Given the description of an element on the screen output the (x, y) to click on. 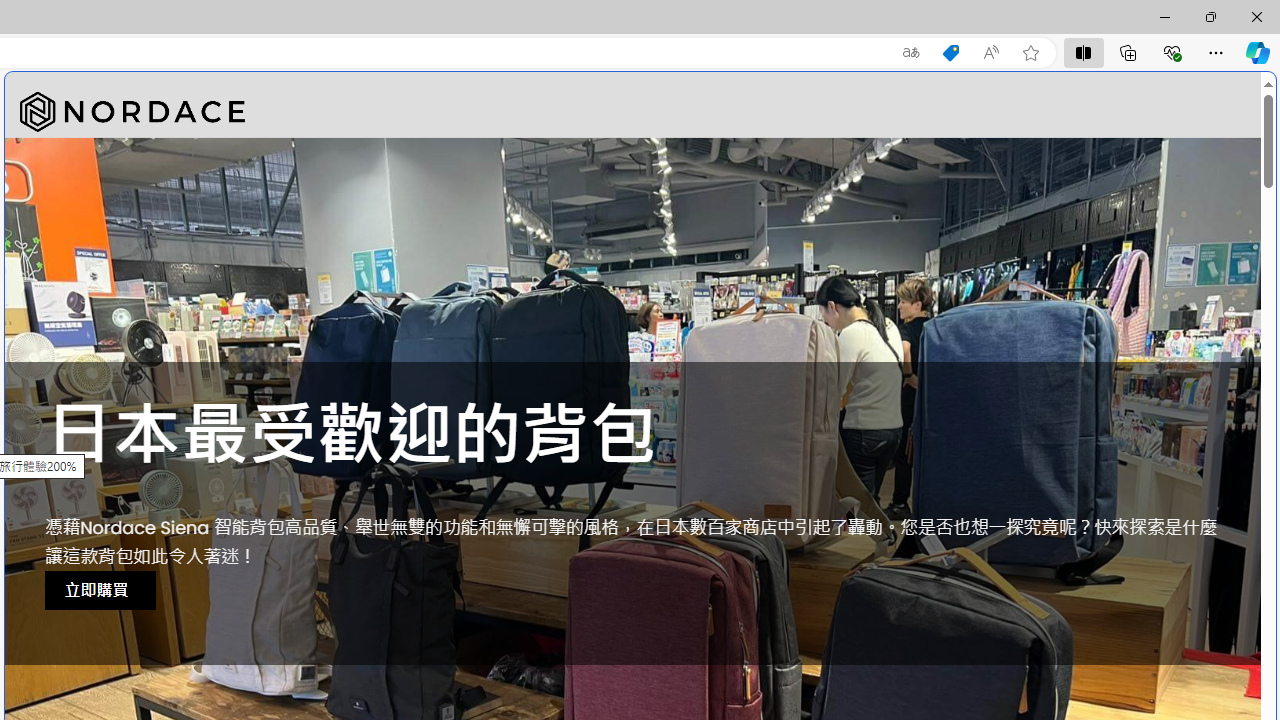
This site has coupons! Shopping in Microsoft Edge (950, 53)
Show translate options (910, 53)
